Given the description of an element on the screen output the (x, y) to click on. 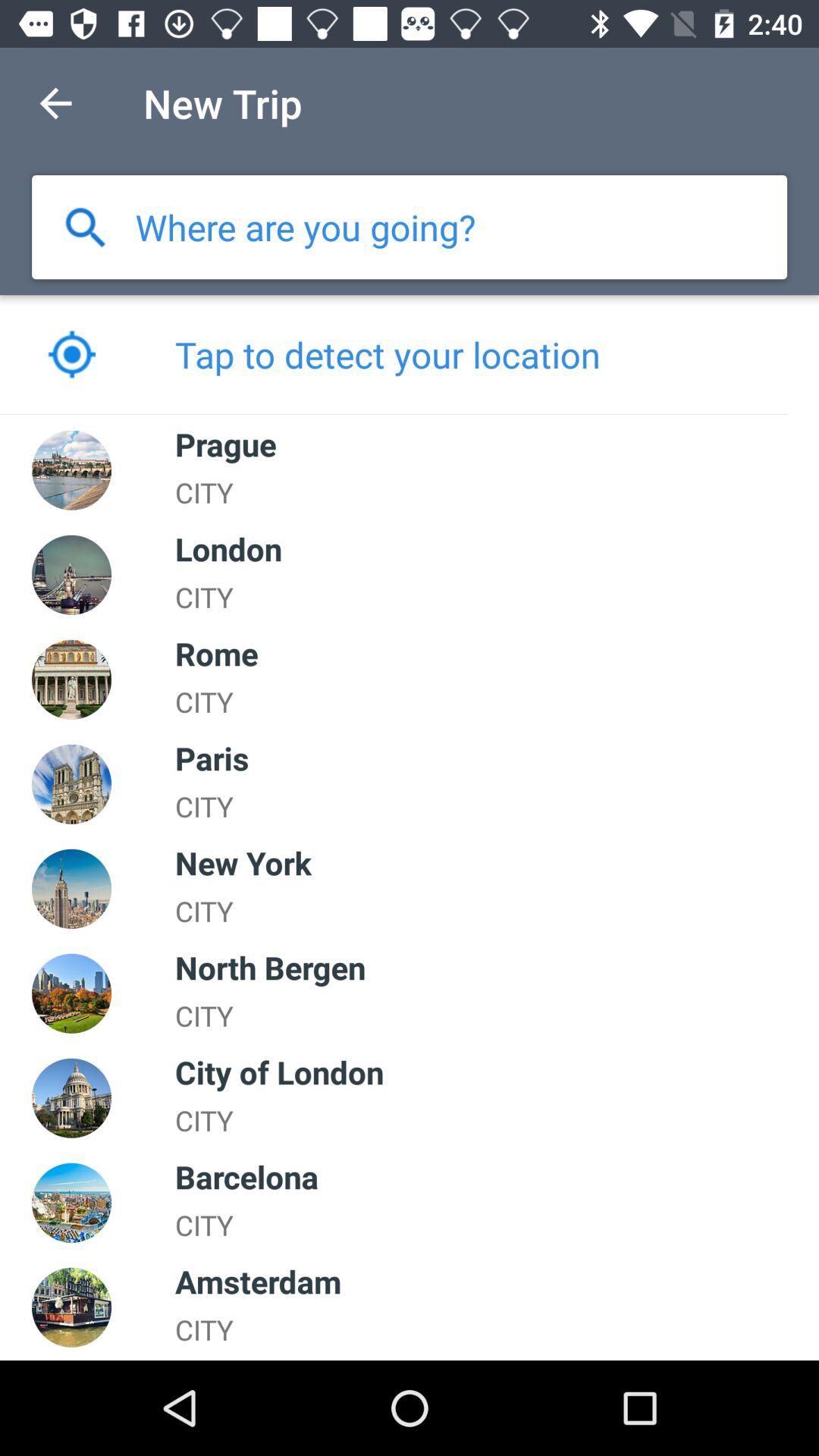
search option (85, 227)
